Given the description of an element on the screen output the (x, y) to click on. 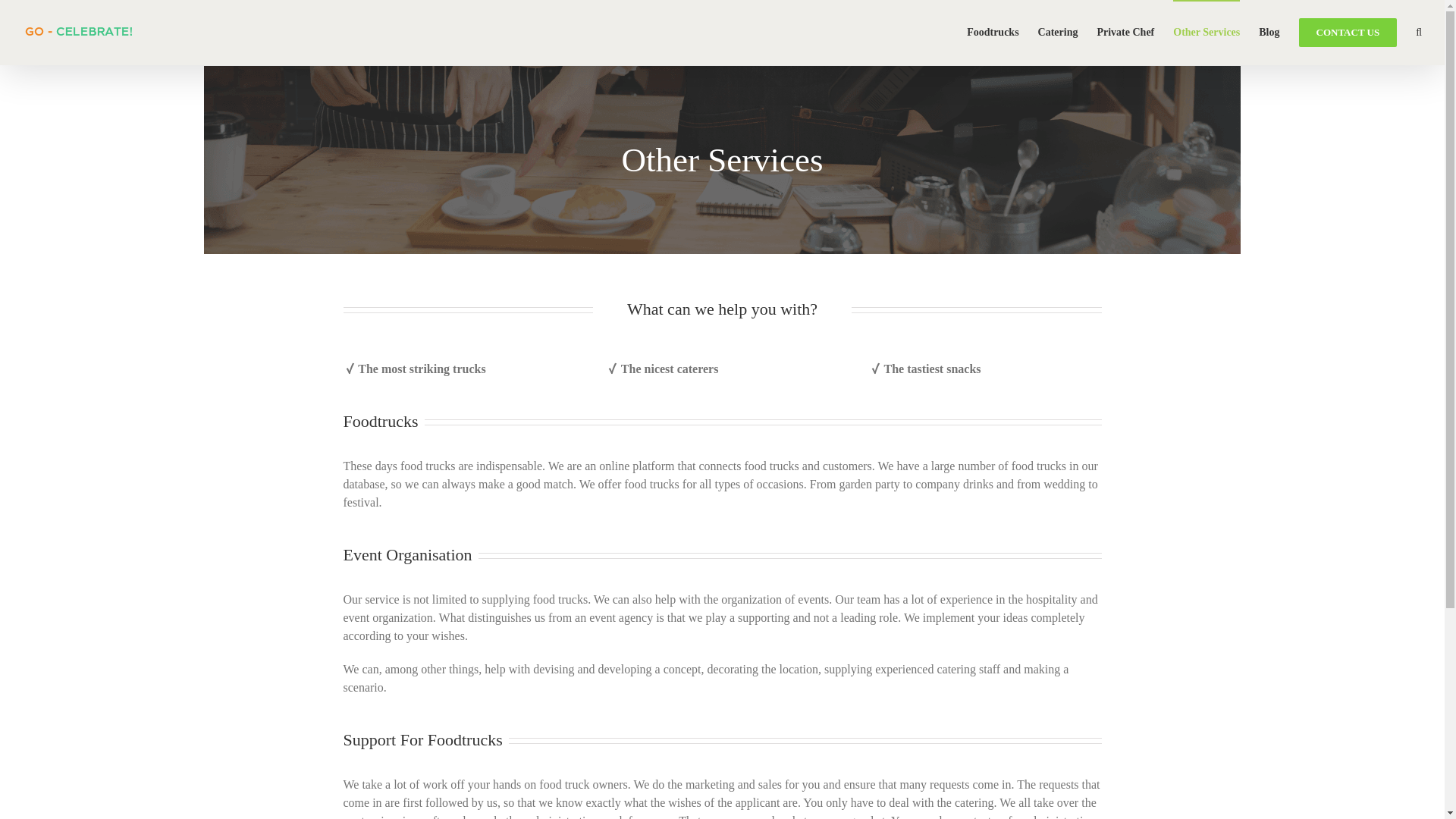
CONTACT US (1347, 31)
Private Chef (1125, 31)
Other Services (1206, 31)
